Given the description of an element on the screen output the (x, y) to click on. 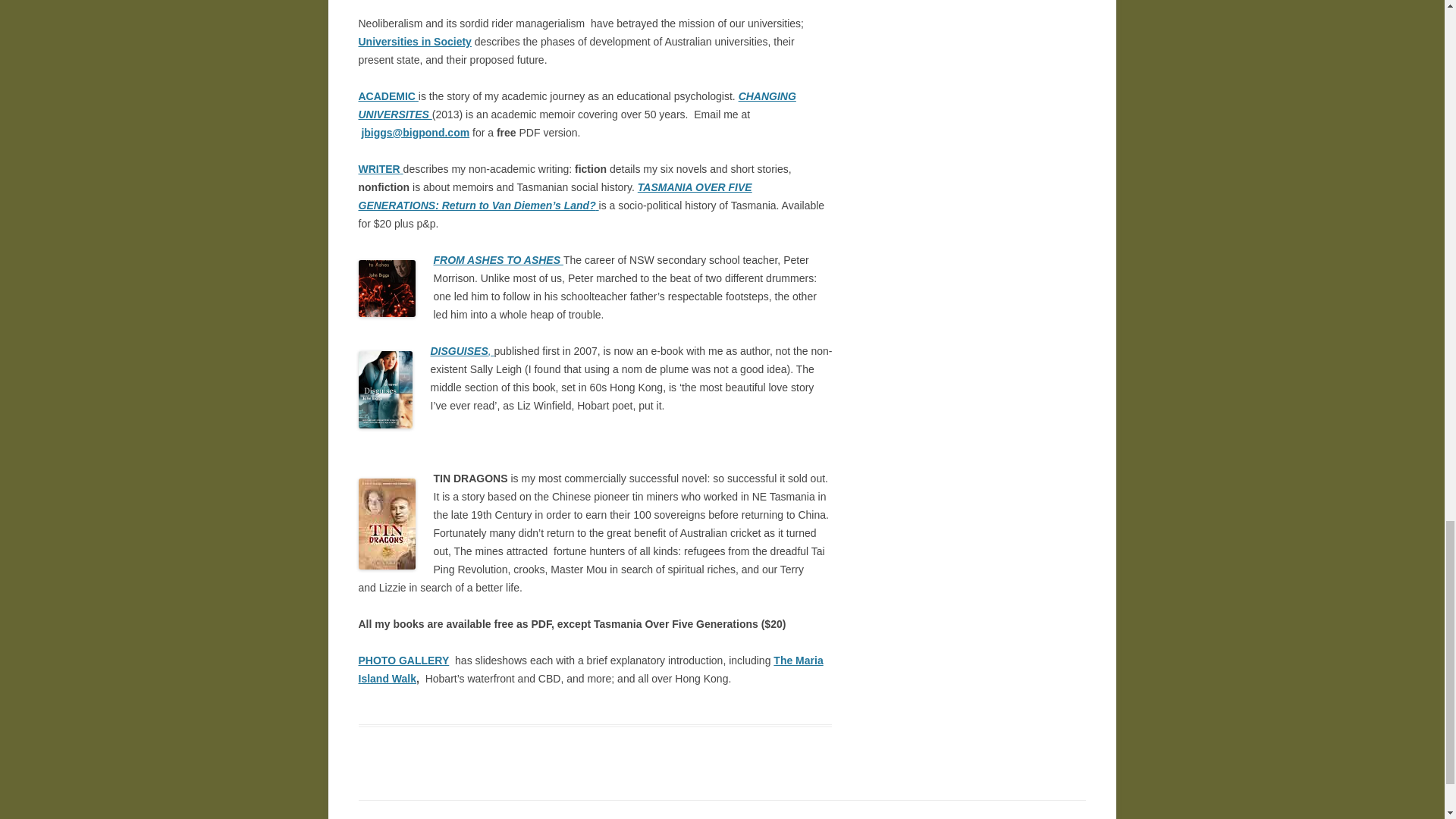
ACADEMIC (387, 96)
Photo gallery (403, 660)
CHANGING UNIVERSITES (576, 105)
From Ashes to Ashes (445, 259)
Changing Universities (576, 105)
From Ashes to Ashes (509, 259)
Disguises (458, 350)
Writer (380, 168)
Universities in Society (414, 41)
Academic (387, 96)
WRITER (380, 168)
Tasmania Over Five Generations (554, 195)
